Given the description of an element on the screen output the (x, y) to click on. 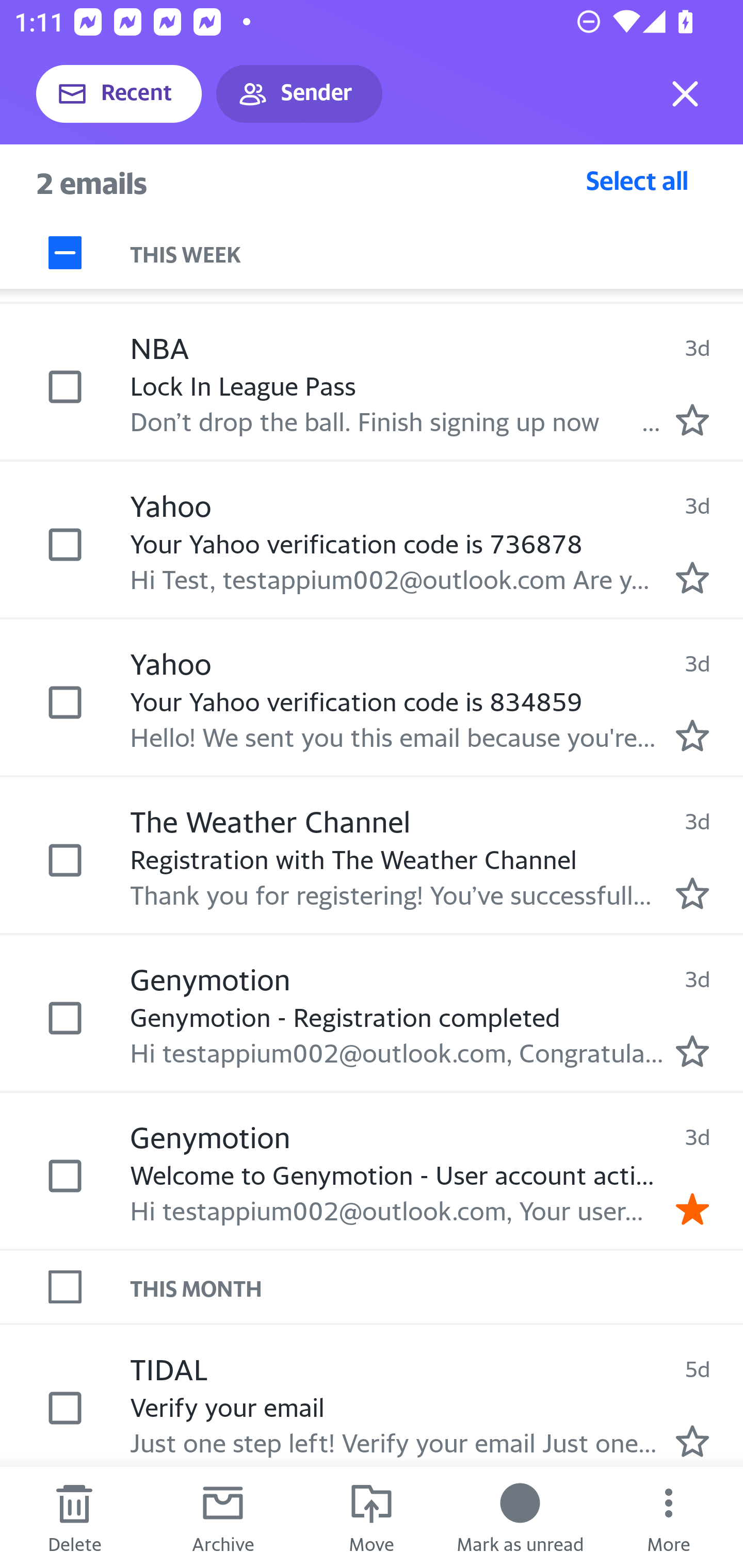
Sender (299, 93)
Exit selection mode (684, 93)
Select all (637, 180)
Mark as starred. (692, 419)
Mark as starred. (692, 577)
Mark as starred. (692, 736)
Mark as starred. (692, 892)
Mark as starred. (692, 1051)
Remove star. (692, 1209)
THIS MONTH (436, 1286)
Mark as starred. (692, 1441)
Delete (74, 1517)
Archive (222, 1517)
Move (371, 1517)
Mark as unread (519, 1517)
More (668, 1517)
